Given the description of an element on the screen output the (x, y) to click on. 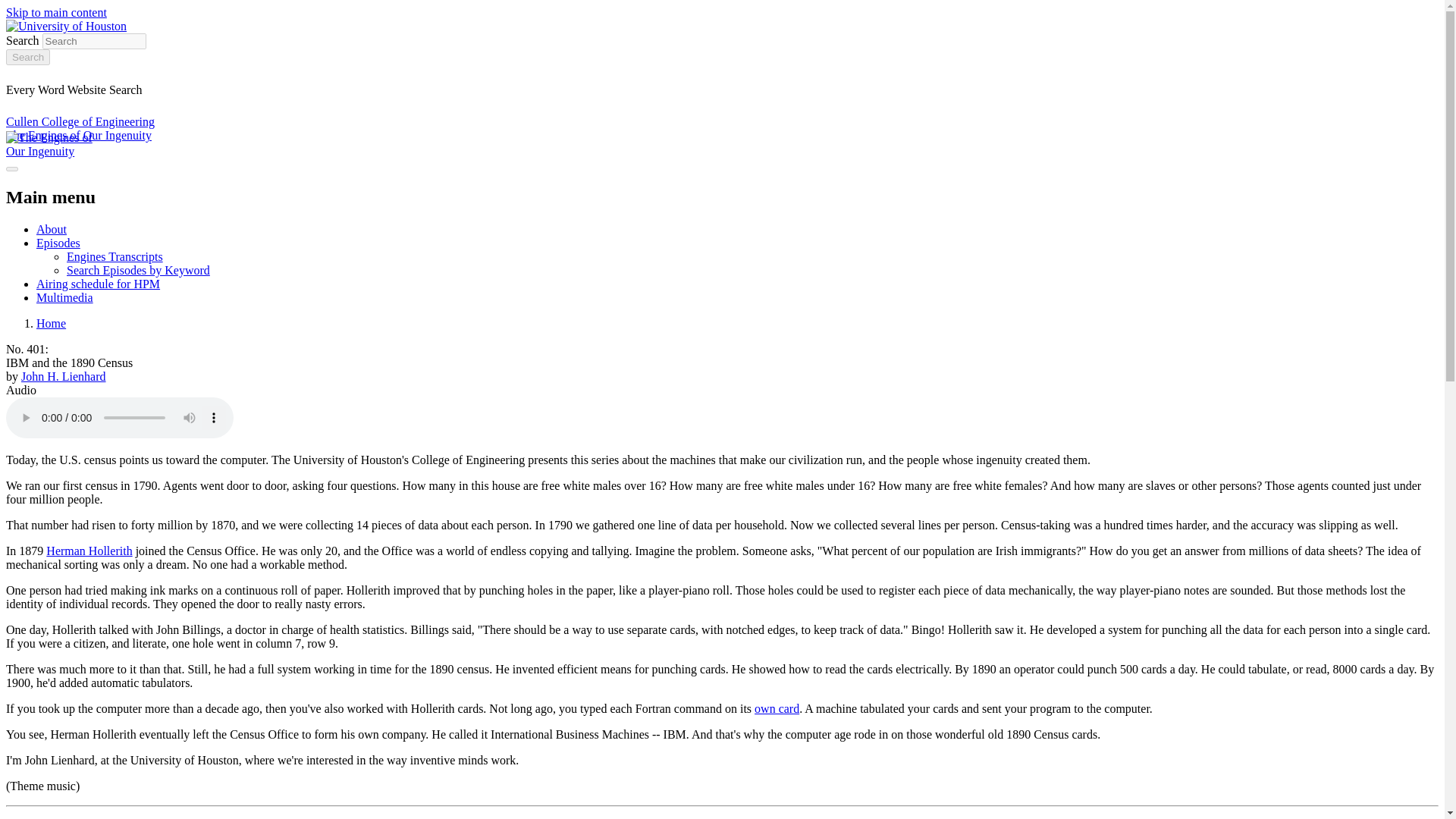
Skip to main content (55, 11)
Airing schedule for HPM (98, 283)
Home (50, 323)
John H. Lienhard (63, 376)
About (51, 228)
Search Episodes by Keyword (137, 269)
Episodes (58, 242)
About (51, 228)
Engines Transcripts (114, 256)
Cullen College of Engineering (79, 121)
